Given the description of an element on the screen output the (x, y) to click on. 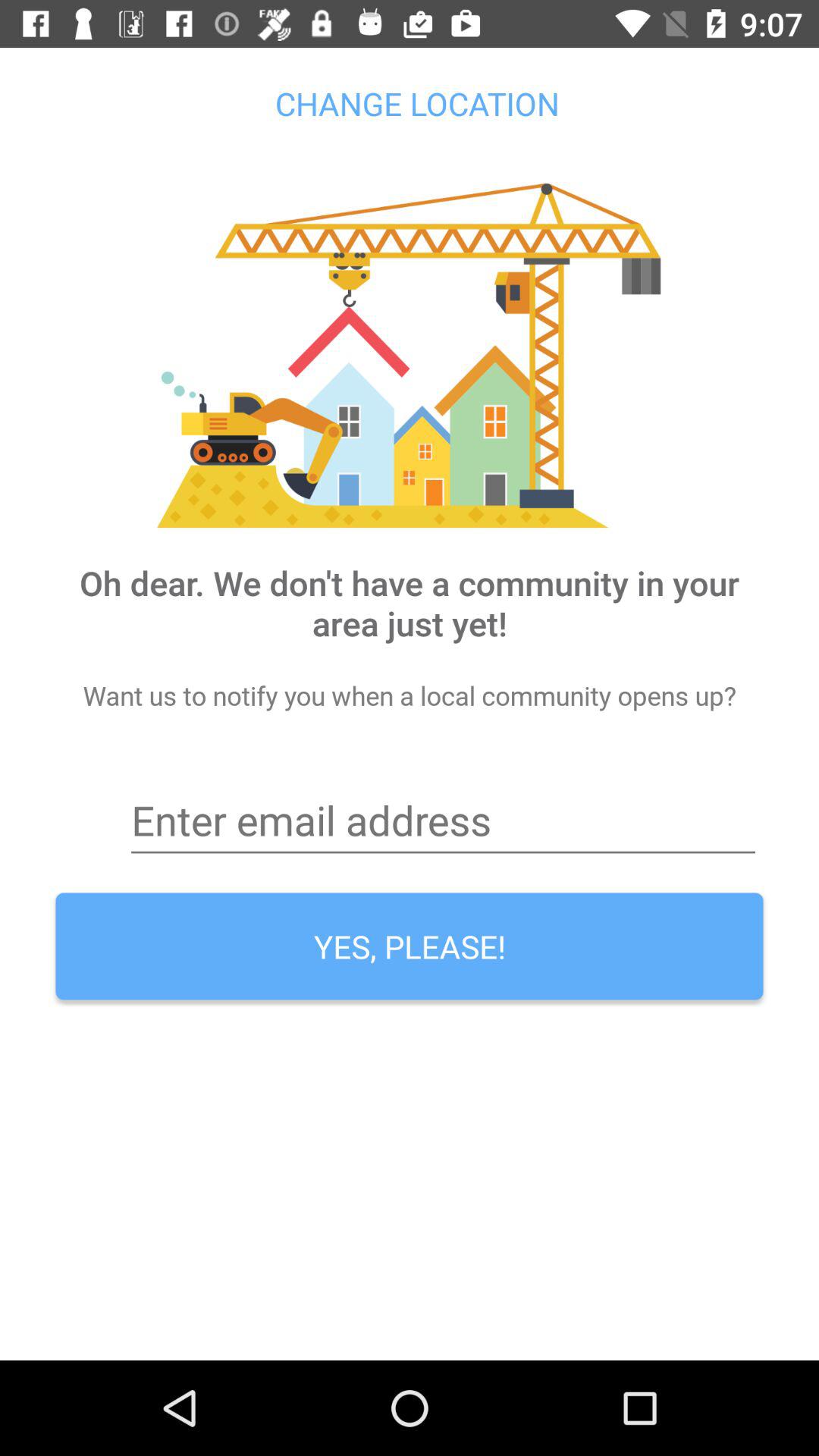
flip to the yes, please! (409, 945)
